Given the description of an element on the screen output the (x, y) to click on. 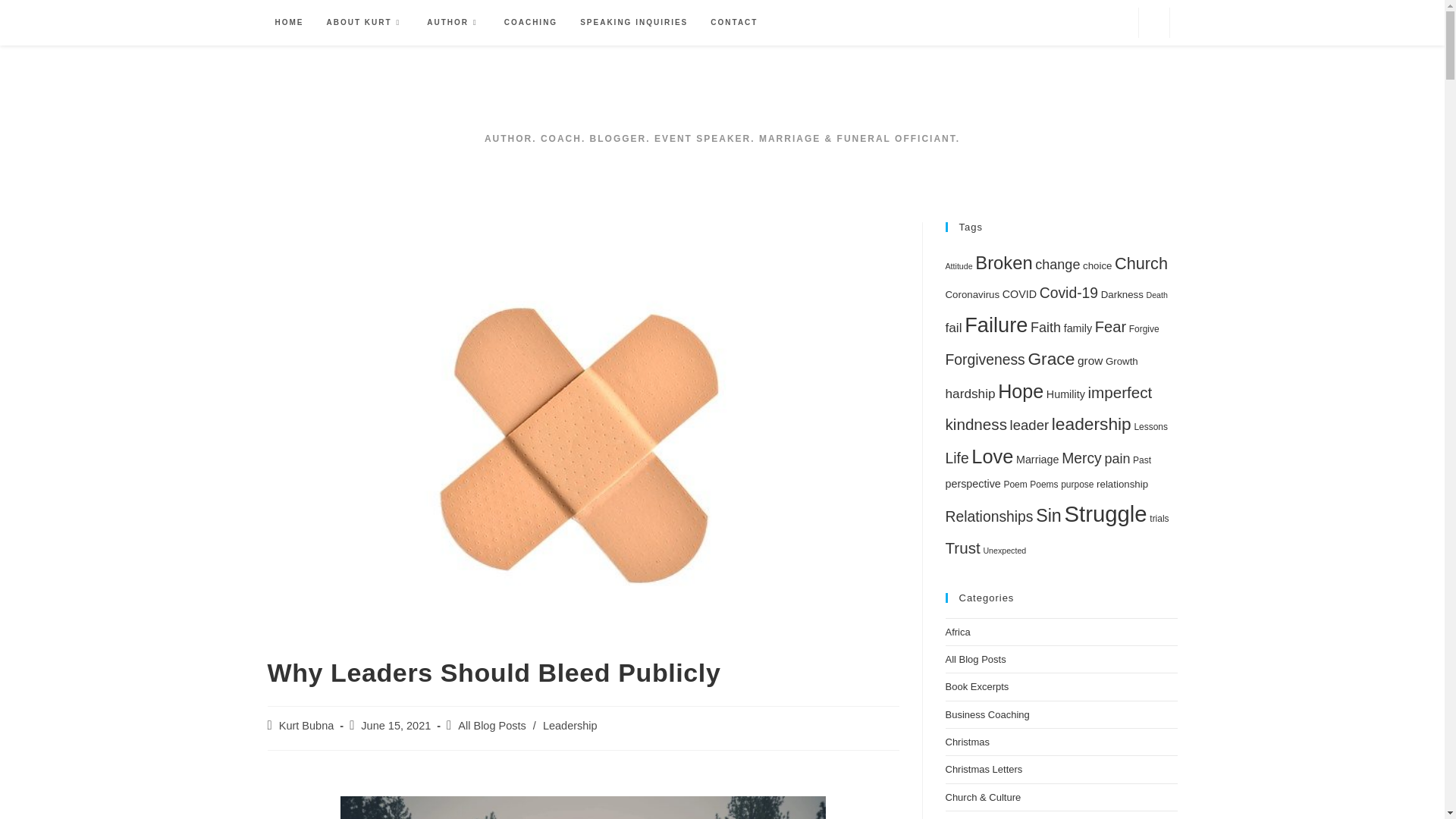
Kurt W. Bubna (721, 99)
ABOUT KURT (365, 22)
Posts by Kurt Bubna (306, 725)
CONTACT (733, 22)
SPEAKING INQUIRIES (633, 22)
Leadership (569, 725)
COACHING (531, 22)
Kurt Bubna (306, 725)
AUTHOR (453, 22)
All Blog Posts (491, 725)
